Given the description of an element on the screen output the (x, y) to click on. 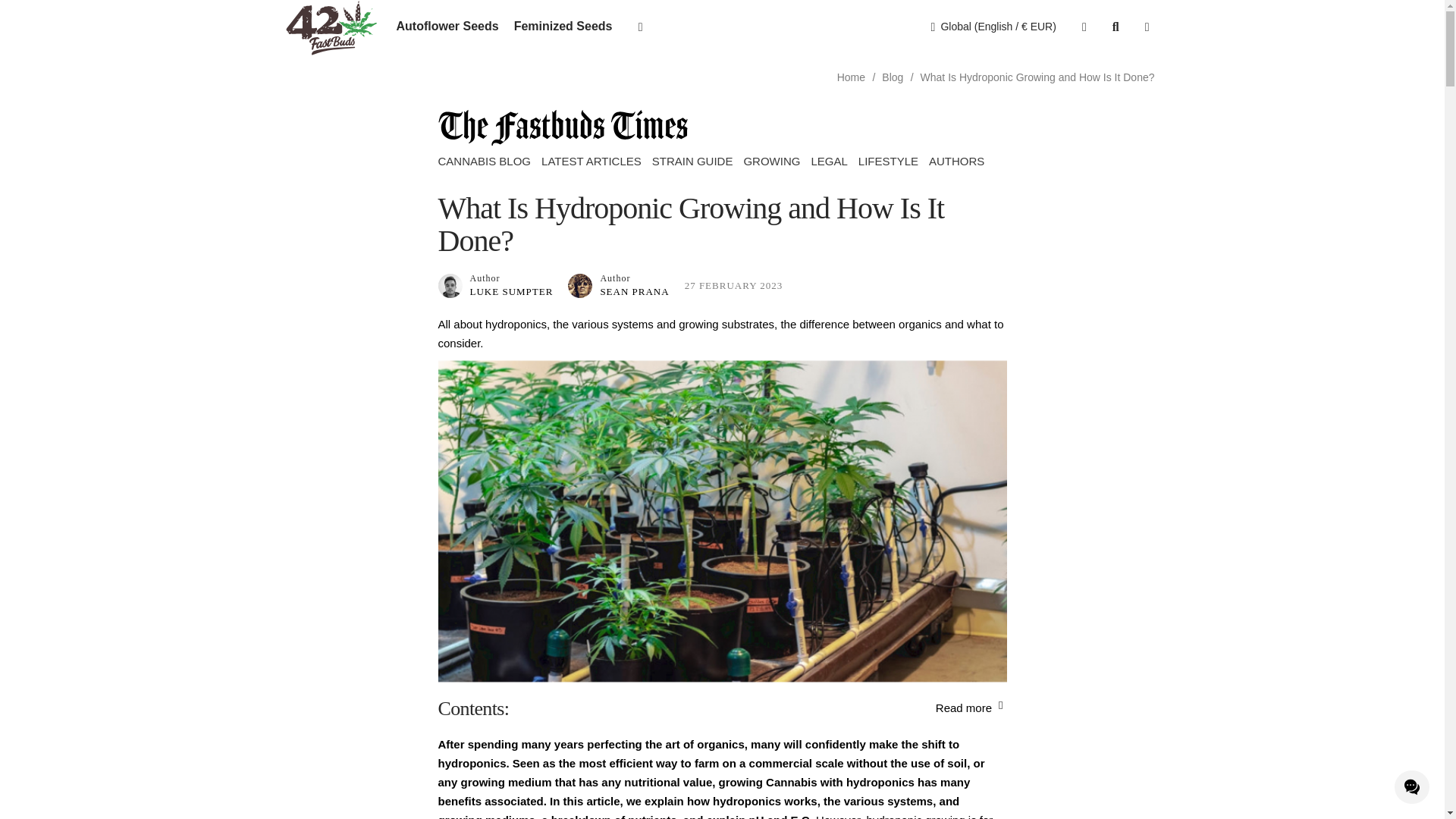
Autoflower Seeds (446, 27)
Feminized Seeds (563, 27)
